Given the description of an element on the screen output the (x, y) to click on. 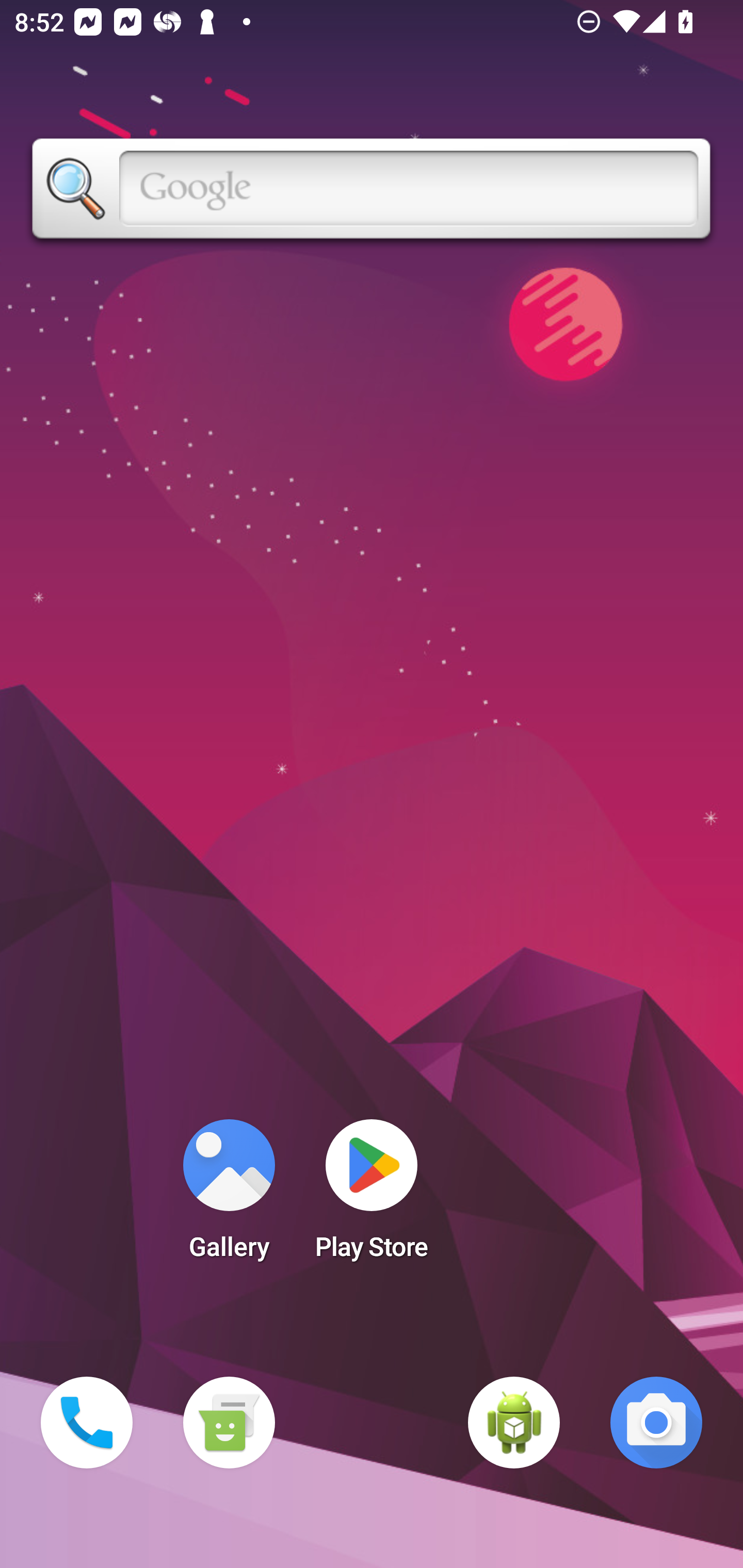
Gallery (228, 1195)
Play Store (371, 1195)
Phone (86, 1422)
Messaging (228, 1422)
WebView Browser Tester (513, 1422)
Camera (656, 1422)
